Given the description of an element on the screen output the (x, y) to click on. 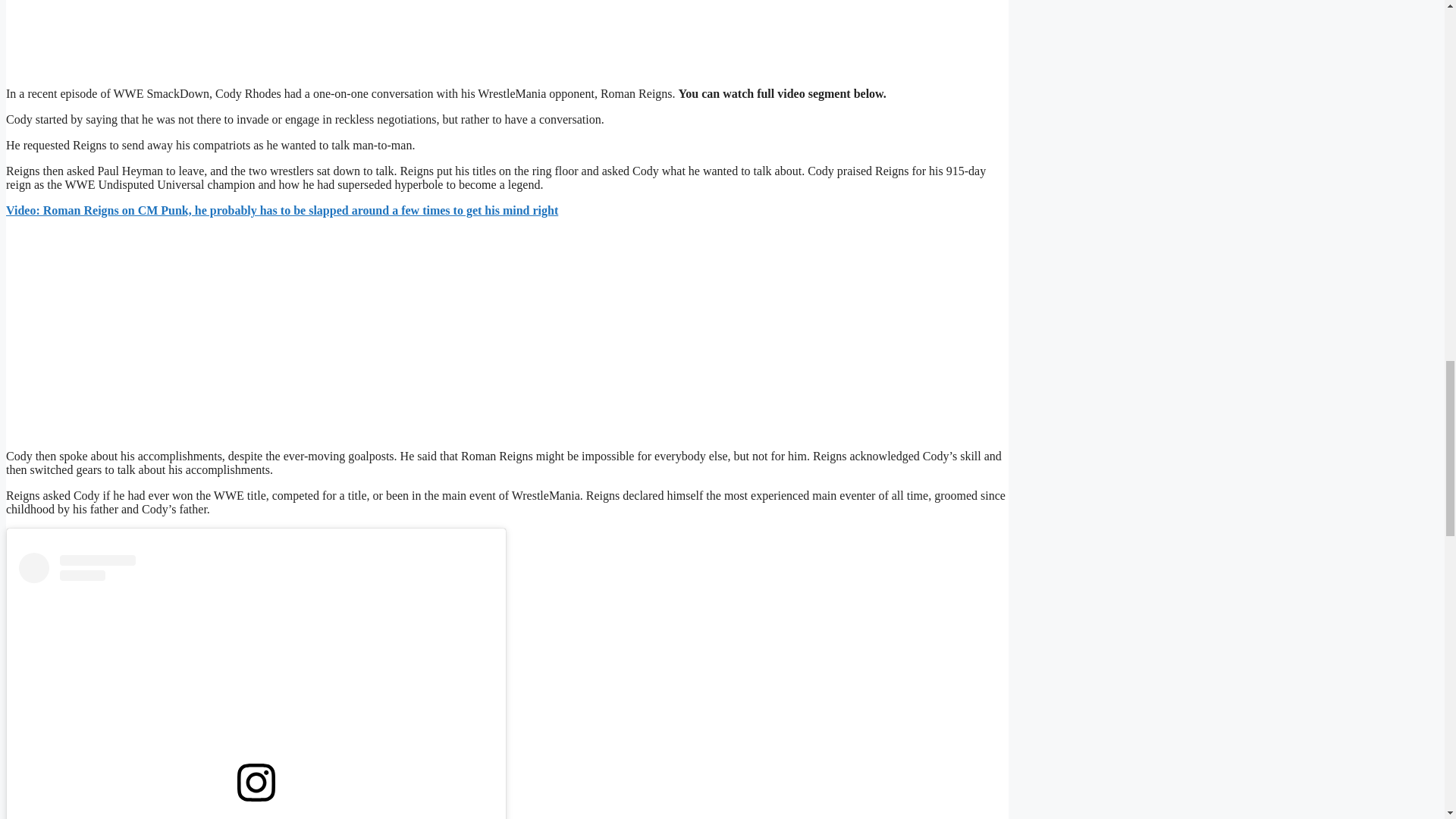
YouTube video player (187, 36)
View this post on Instagram (255, 685)
YouTube video player (187, 332)
